Given the description of an element on the screen output the (x, y) to click on. 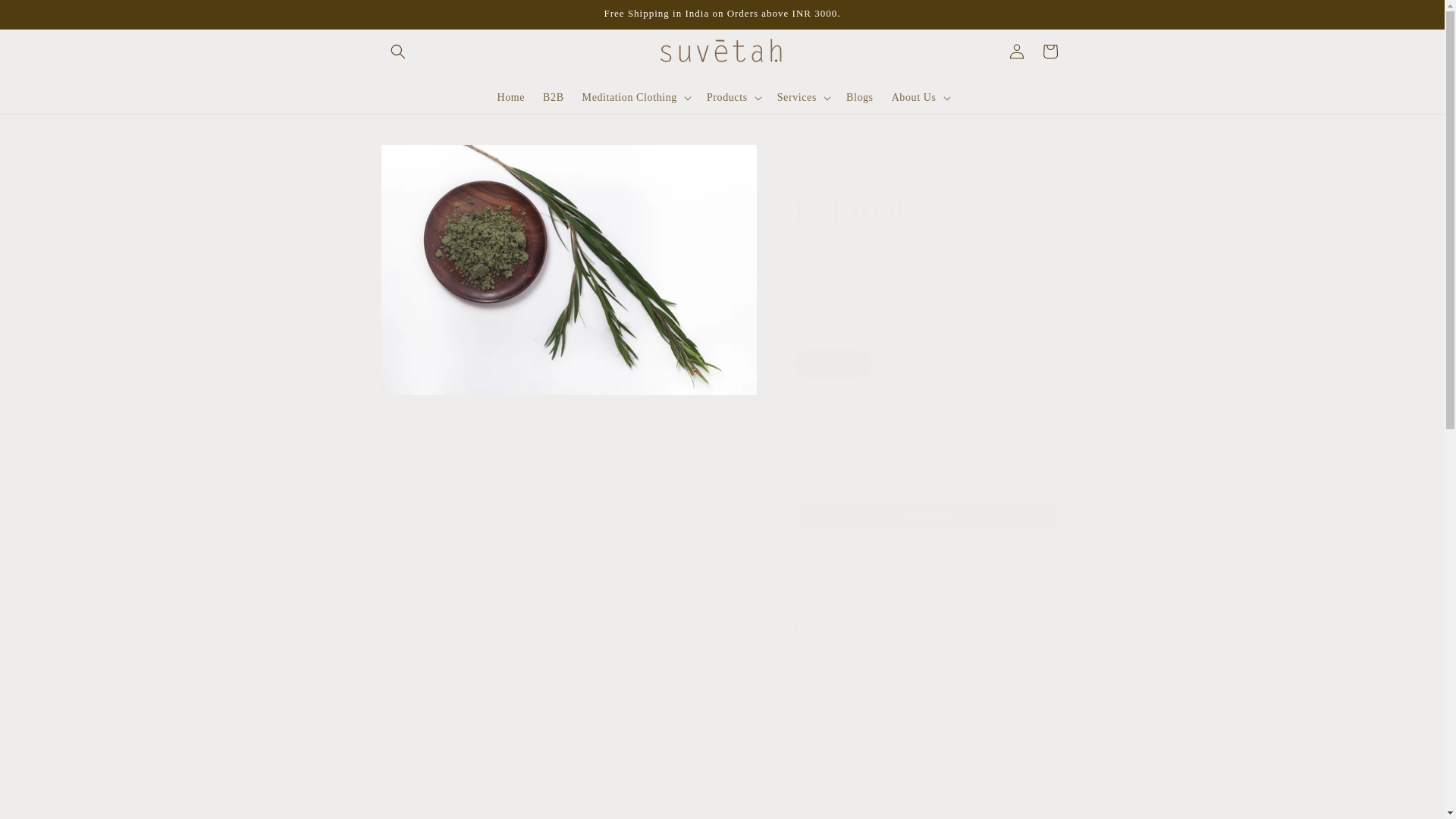
Skip to content (45, 17)
1 (848, 427)
Open media 1 in modal (567, 269)
